Given the description of an element on the screen output the (x, y) to click on. 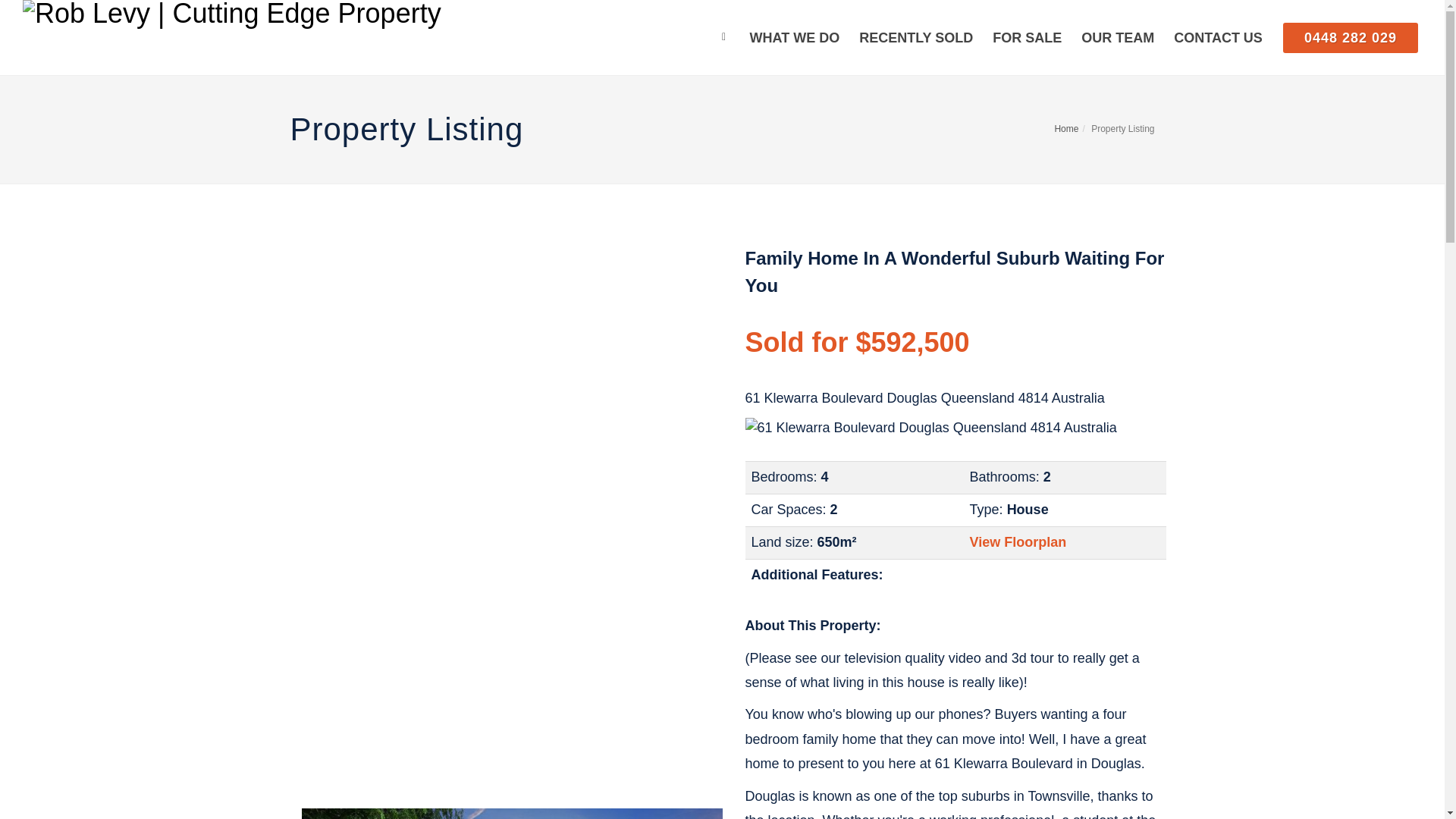
WHAT WE DO (794, 38)
CONTACT US (1217, 38)
View Floorplan (930, 427)
OUR TEAM (1018, 541)
RECENTLY SOLD (1117, 38)
FOR SALE (915, 38)
0448 282 029 (1027, 38)
Home (1350, 37)
